Given the description of an element on the screen output the (x, y) to click on. 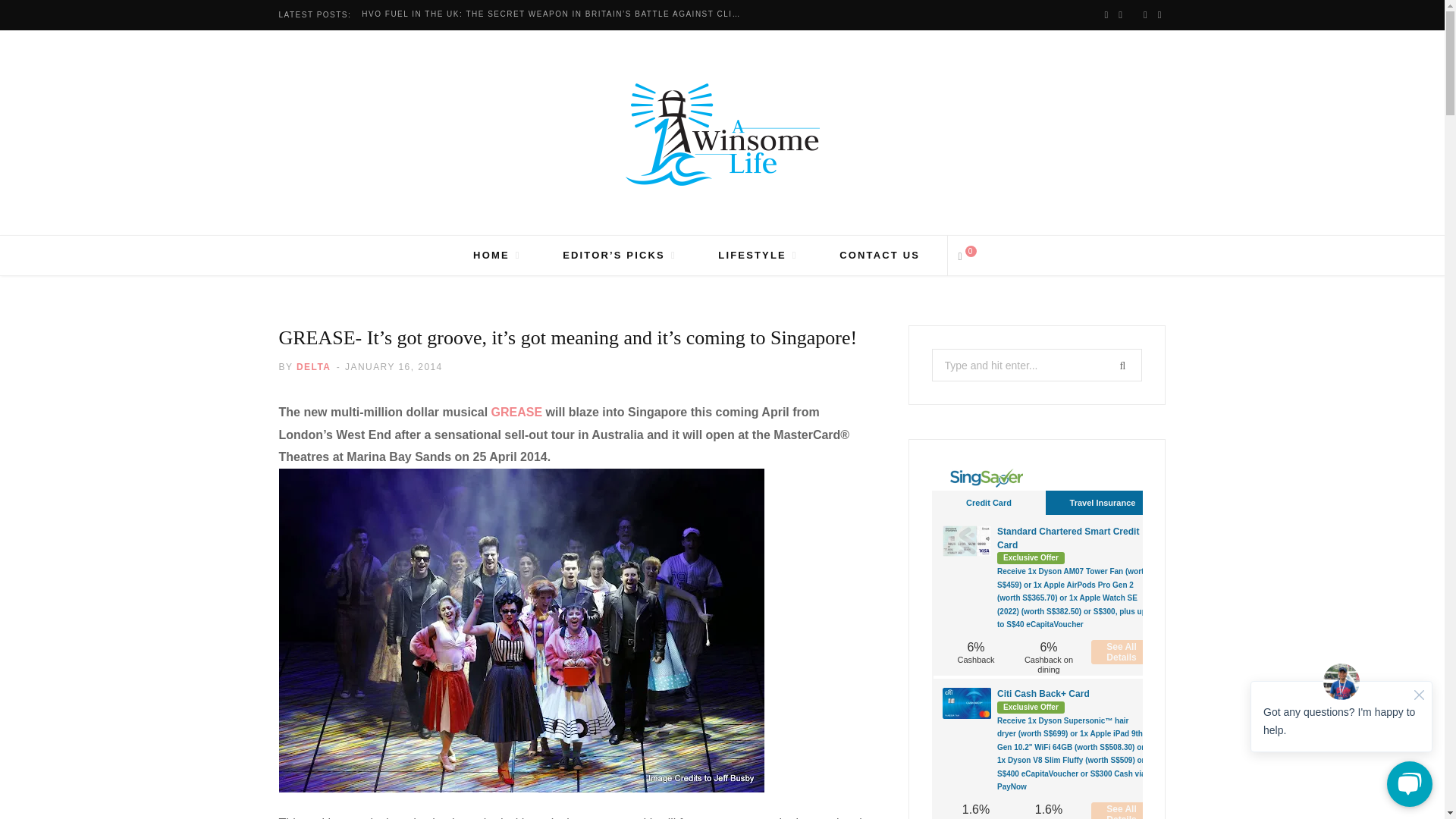
LIFESTYLE (756, 255)
A Winsome Life (721, 134)
HOME (497, 255)
